Given the description of an element on the screen output the (x, y) to click on. 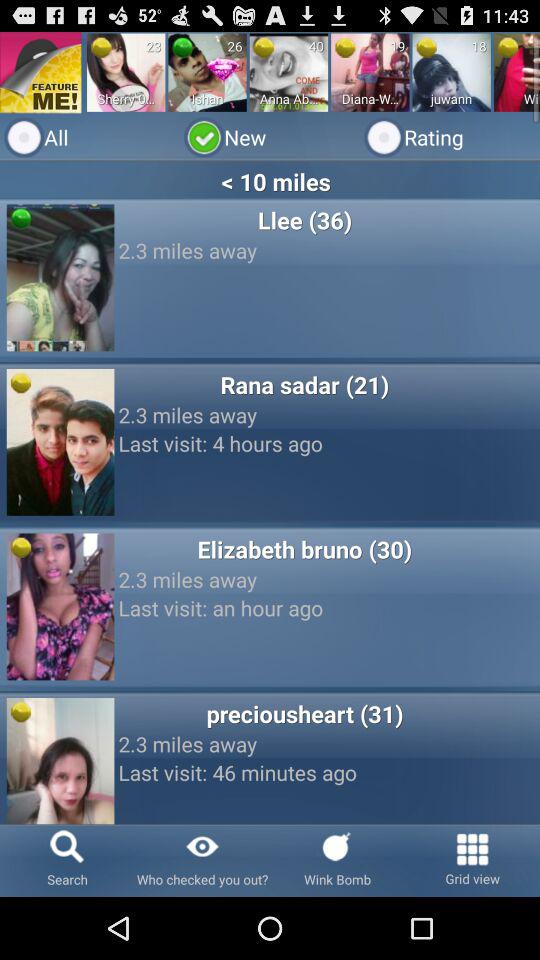
turn off icon next to the 40 (263, 47)
